Given the description of an element on the screen output the (x, y) to click on. 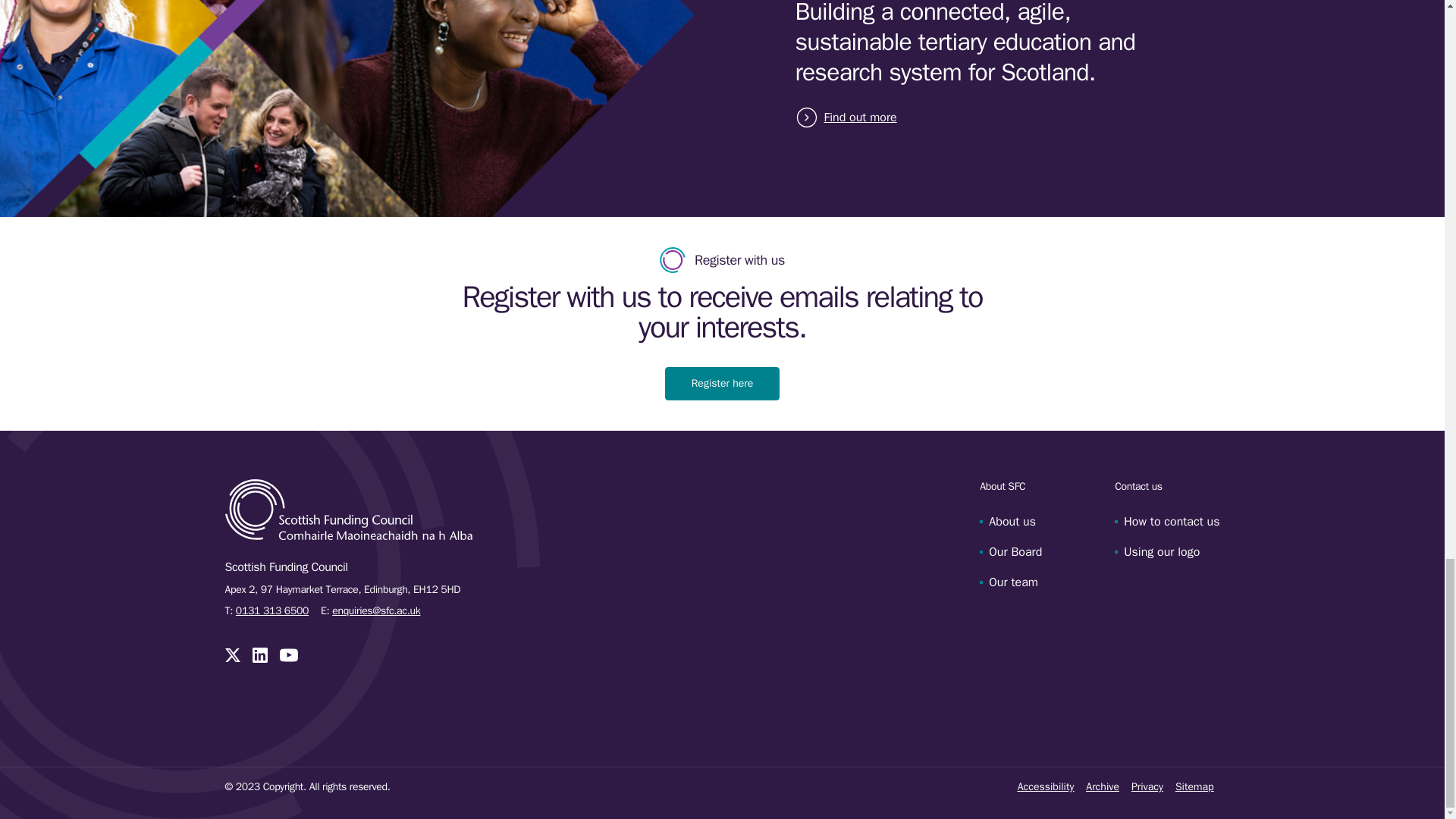
Scottish Funding Council on LinkedIn (258, 654)
Scottish Funding Council on YouTube (288, 655)
Scottish Funding Council on Twitter (232, 654)
Find out more (856, 117)
